Given the description of an element on the screen output the (x, y) to click on. 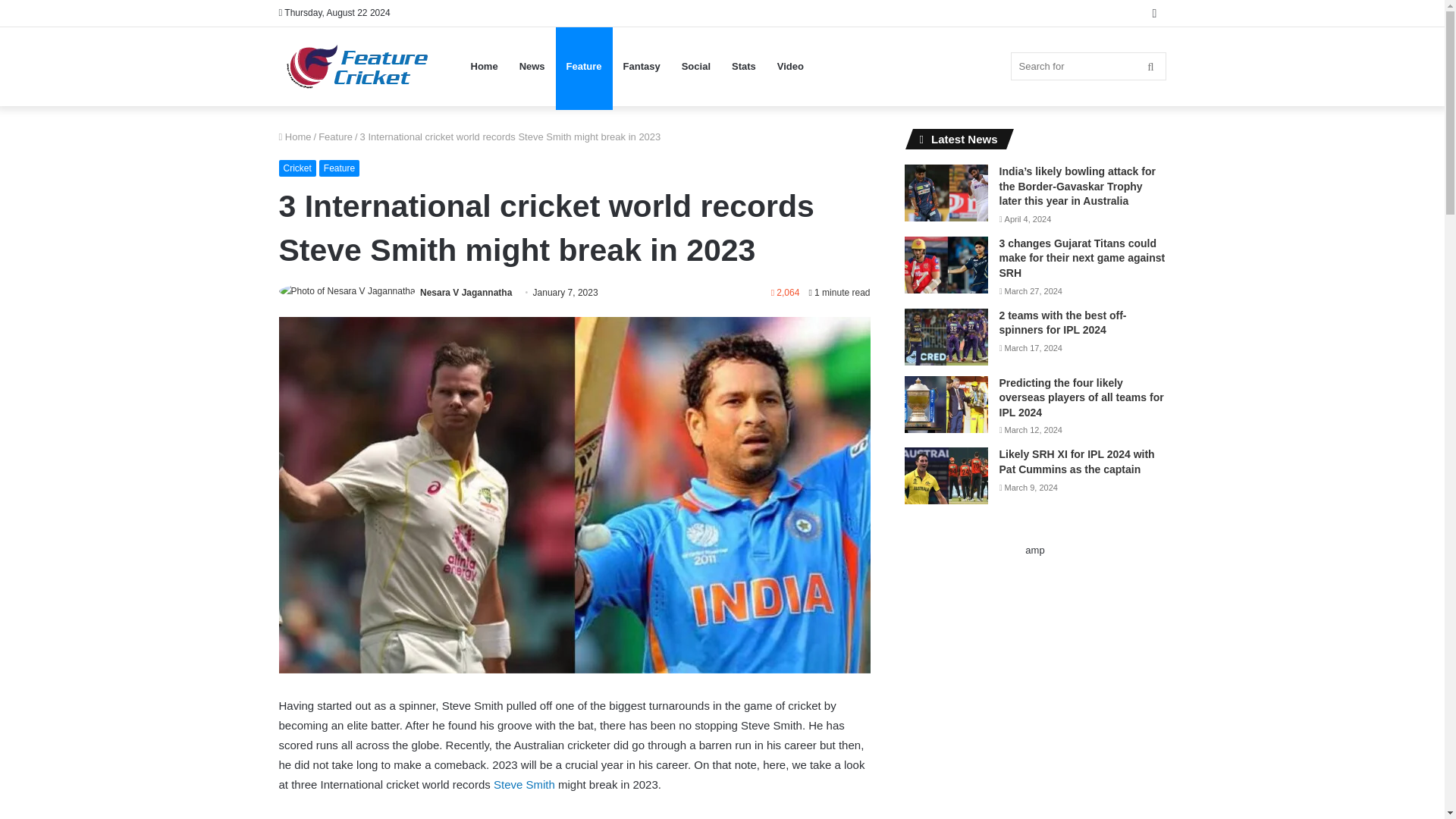
Feature (338, 167)
Feature (335, 136)
Home (295, 136)
Nesara V Jagannatha (466, 292)
Cricket (297, 167)
Nesara V Jagannatha (466, 292)
Steve Smith (523, 784)
Search for (1088, 66)
FeatureCricket (360, 66)
